Given the description of an element on the screen output the (x, y) to click on. 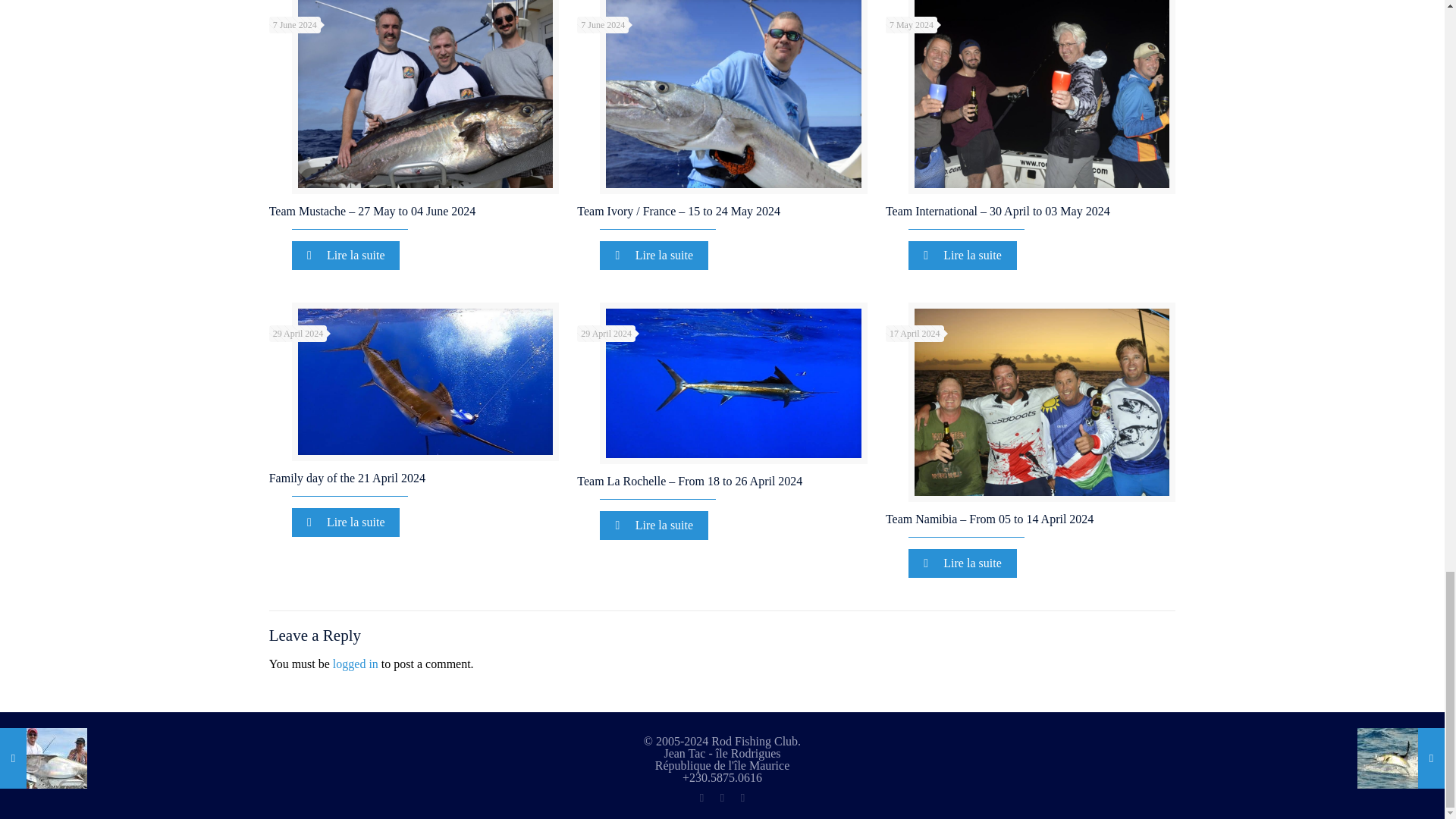
Instagram (743, 797)
Facebook (702, 797)
YouTube (722, 797)
